Given the description of an element on the screen output the (x, y) to click on. 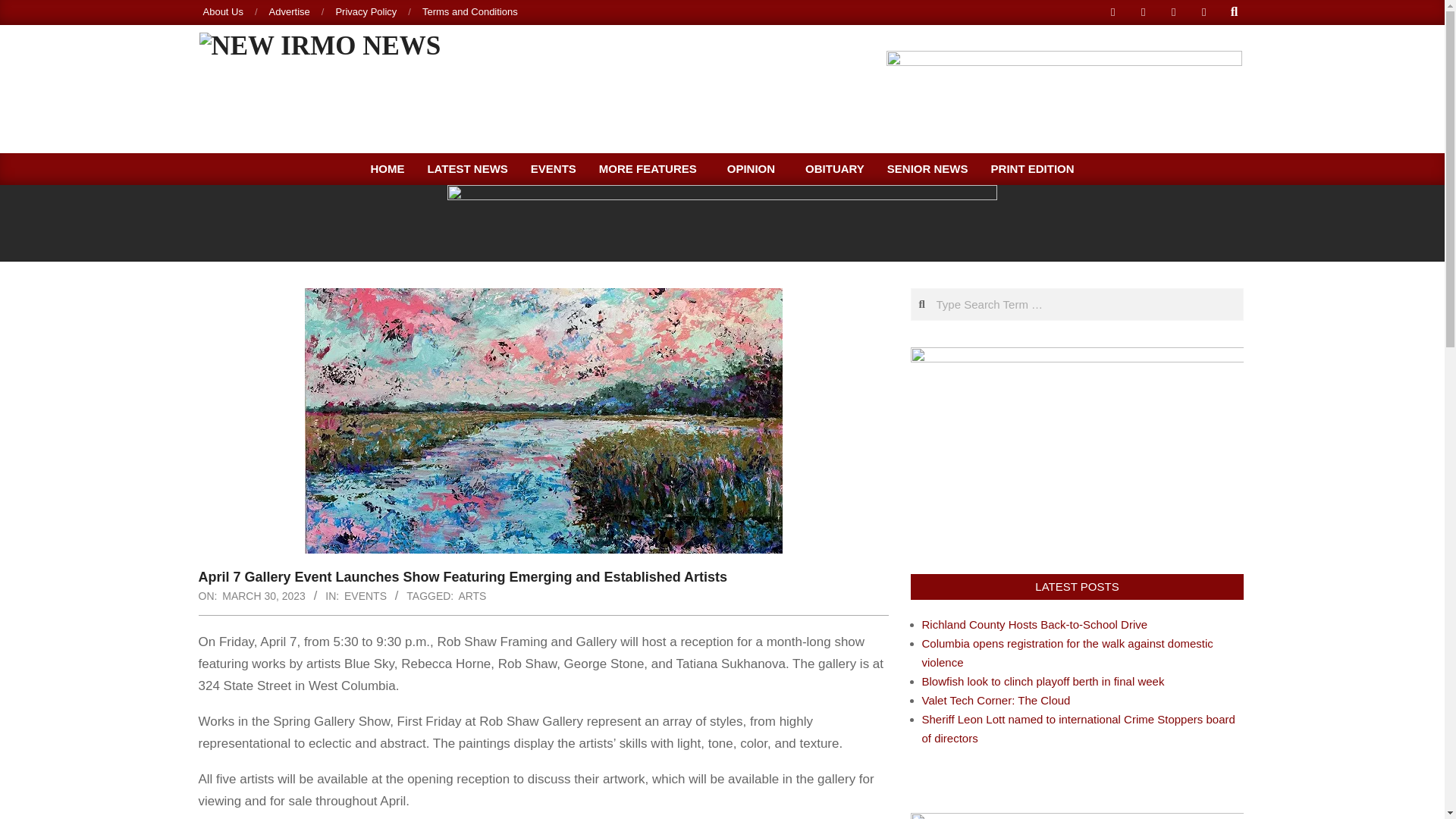
SENIOR NEWS (927, 169)
OPINION (754, 169)
EVENTS (553, 169)
LATEST NEWS (466, 169)
HOME (386, 169)
PRINT EDITION (1032, 169)
ARTS (472, 595)
Thursday, March 30, 2023, 9:12 pm (263, 595)
Advertise (289, 11)
OBITUARY (834, 169)
MORE FEATURES (652, 169)
Search (24, 9)
Privacy Policy (365, 11)
Terms and Conditions (470, 11)
About Us (223, 11)
